Given the description of an element on the screen output the (x, y) to click on. 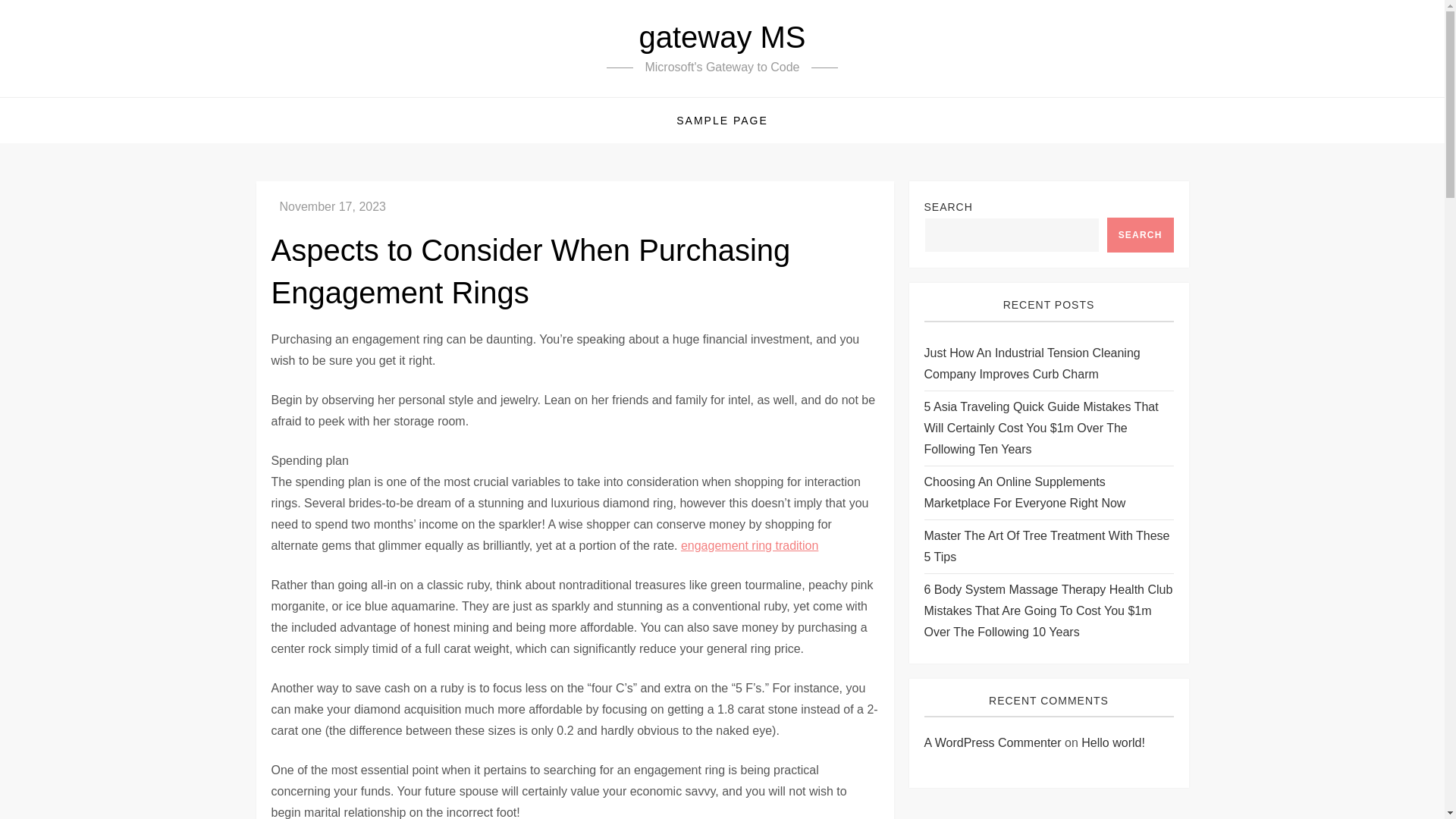
SAMPLE PAGE (721, 120)
A WordPress Commenter (992, 742)
gateway MS (722, 37)
SEARCH (1139, 234)
November 17, 2023 (332, 205)
Hello world! (1112, 742)
engagement ring tradition (749, 545)
Master The Art Of Tree Treatment With These 5 Tips (1048, 546)
